Given the description of an element on the screen output the (x, y) to click on. 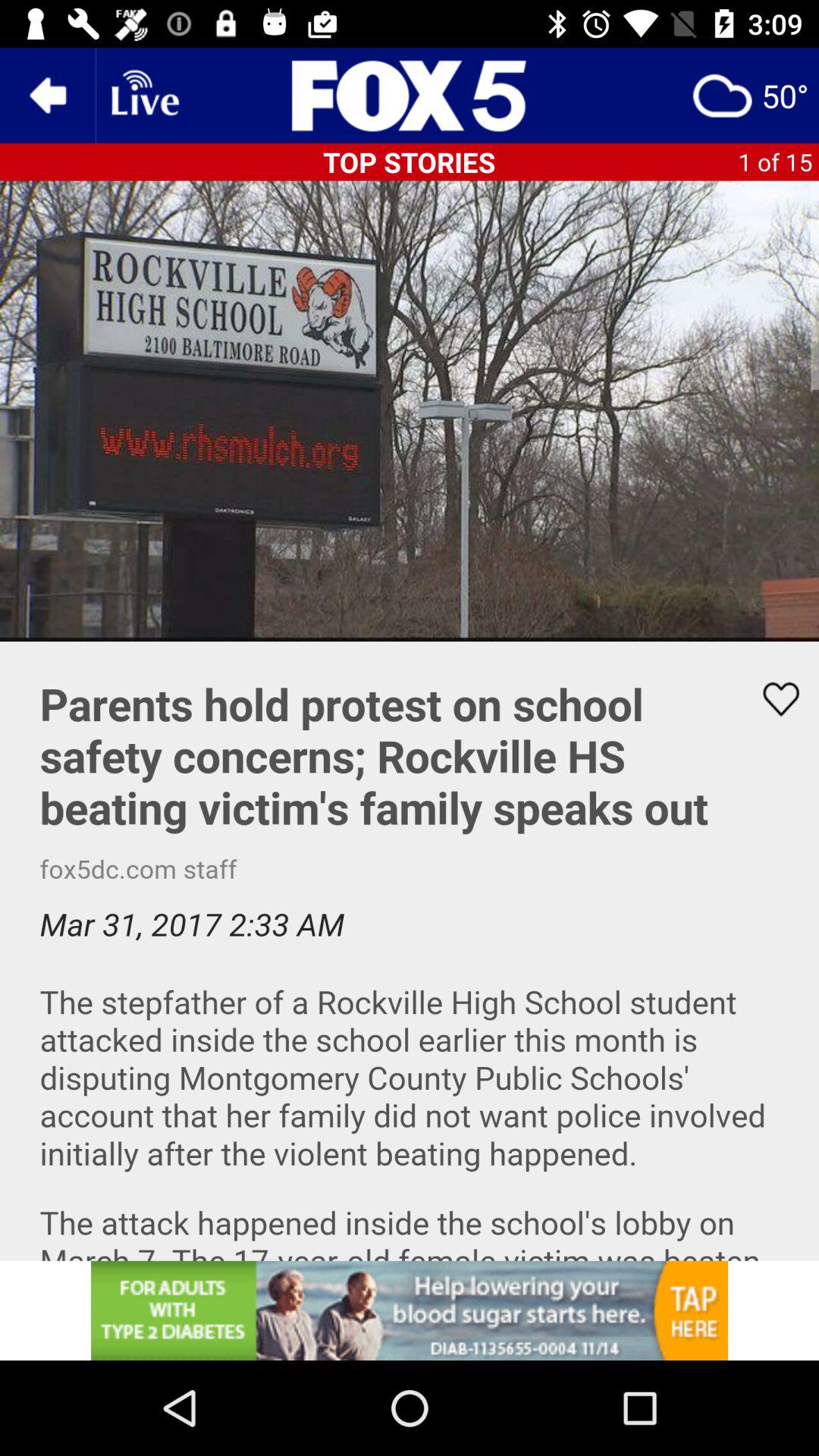
wifi option (143, 95)
